Given the description of an element on the screen output the (x, y) to click on. 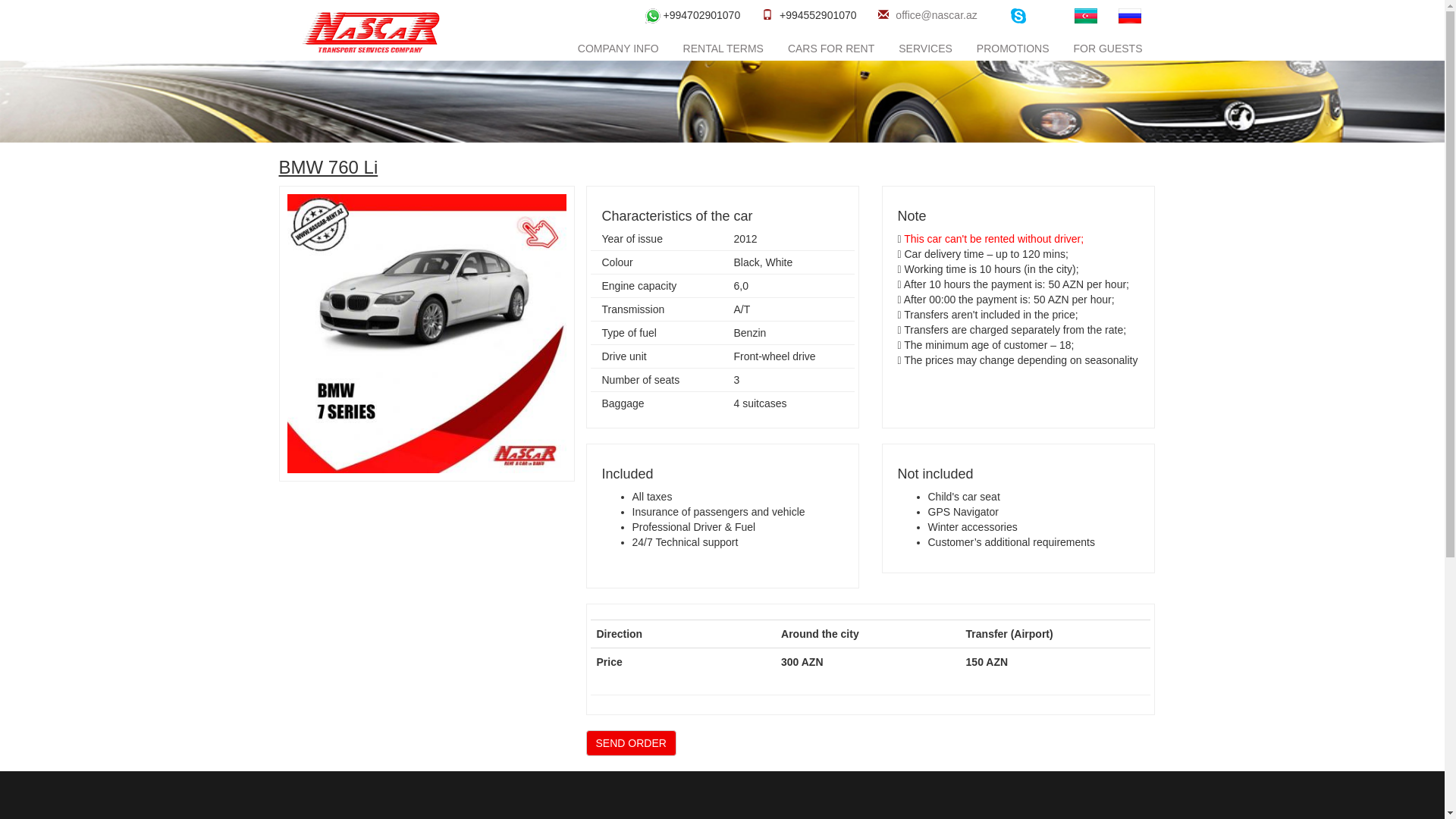
SERVICES Element type: text (925, 48)
office@nascar.az Element type: text (935, 15)
RENTAL TERMS Element type: text (723, 48)
CARS FOR RENT Element type: text (830, 48)
FOR GUESTS Element type: text (1107, 48)
SEND ORDER Element type: text (630, 743)
PROMOTIONS Element type: text (1012, 48)
COMPANY INFO Element type: text (618, 48)
